Given the description of an element on the screen output the (x, y) to click on. 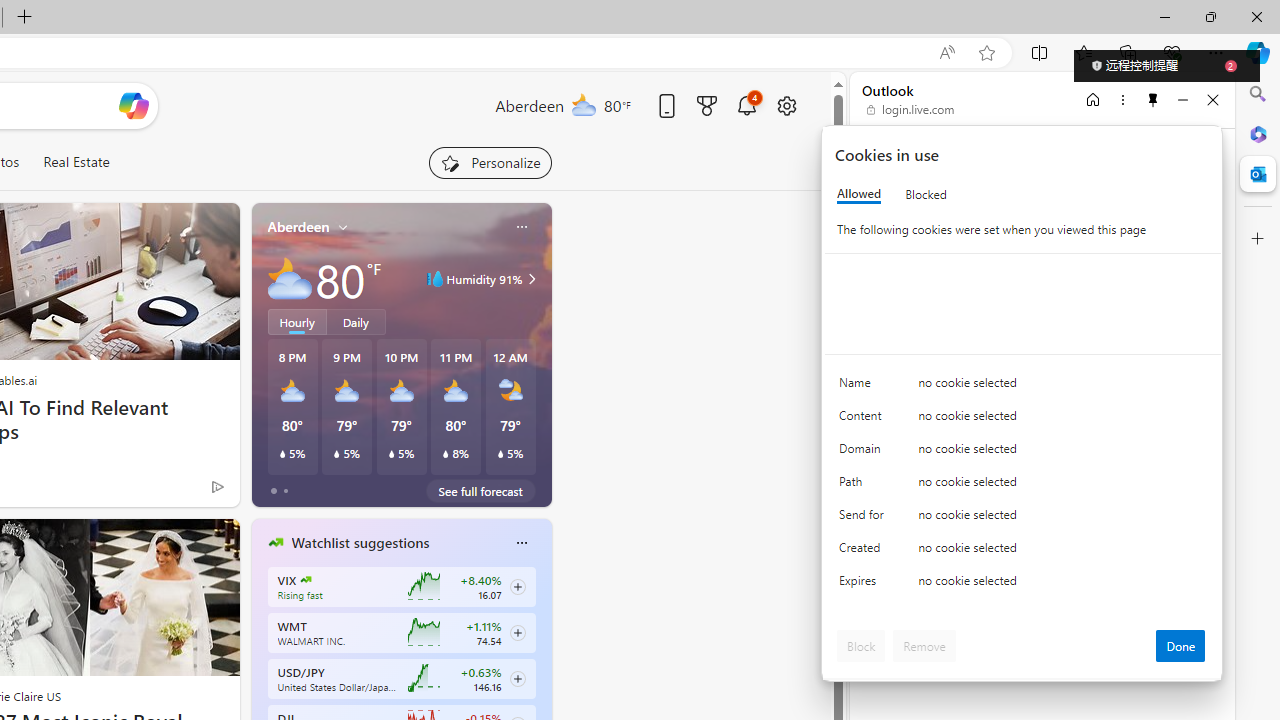
Mostly cloudy (289, 278)
Name (864, 387)
Personalize your feed" (489, 162)
Block (861, 645)
Done (1179, 645)
